Given the description of an element on the screen output the (x, y) to click on. 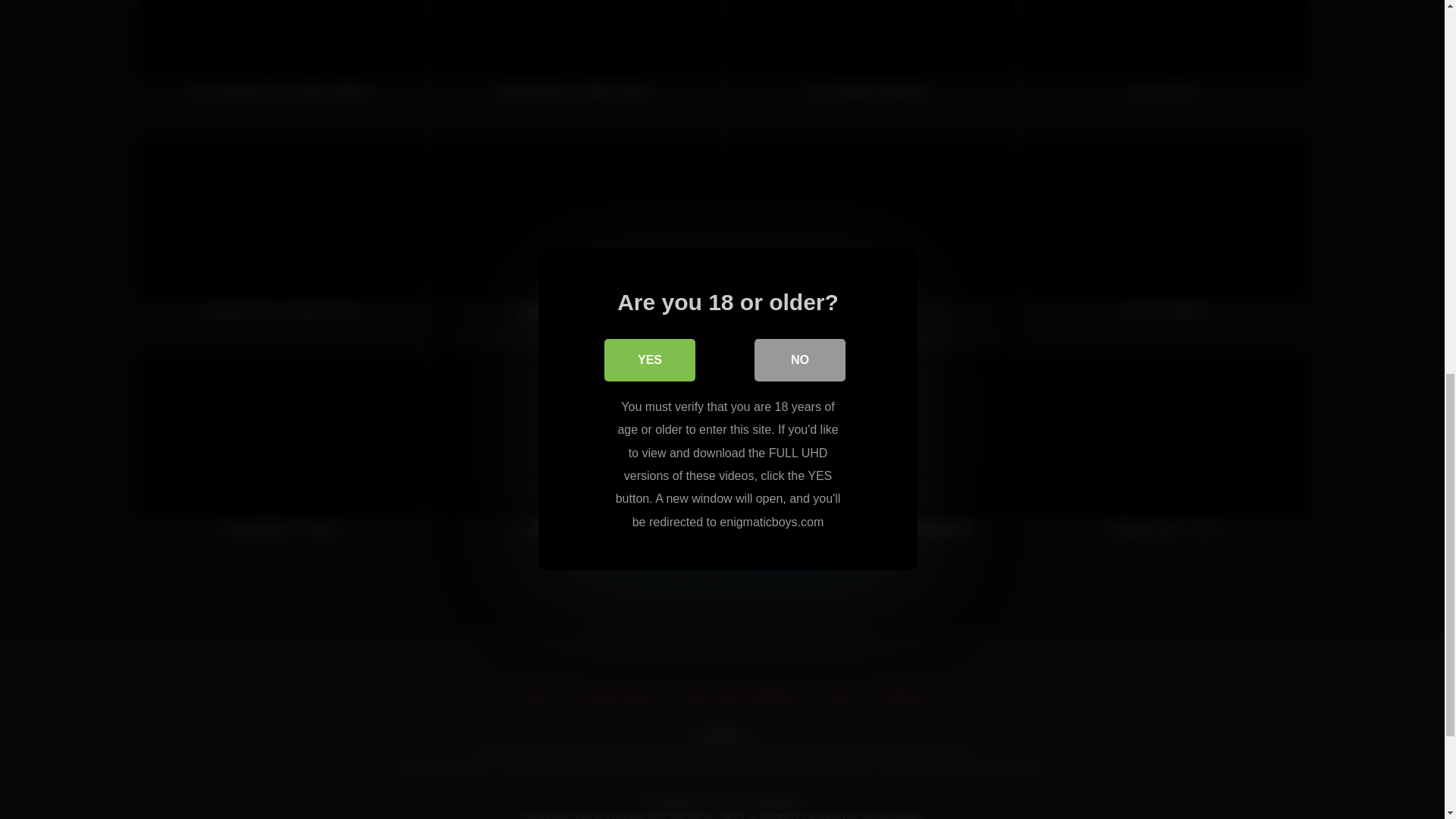
Home (534, 697)
Iann Window Photoshoot (869, 58)
Sitemap (903, 697)
Lee Ryan Bedtime (1163, 235)
Jensen Bedtime (869, 235)
Iann Window Photoshoot (869, 58)
Jensen Bedtime (869, 235)
Woo Young Couch (575, 452)
Alex and Tom (1163, 58)
Terms and Conditions (740, 697)
Woo Young Couch (575, 452)
2257 (840, 697)
Lee Ryan Bedtime (1163, 235)
Privacy Policy (615, 697)
Alex and Tom (1163, 58)
